Given the description of an element on the screen output the (x, y) to click on. 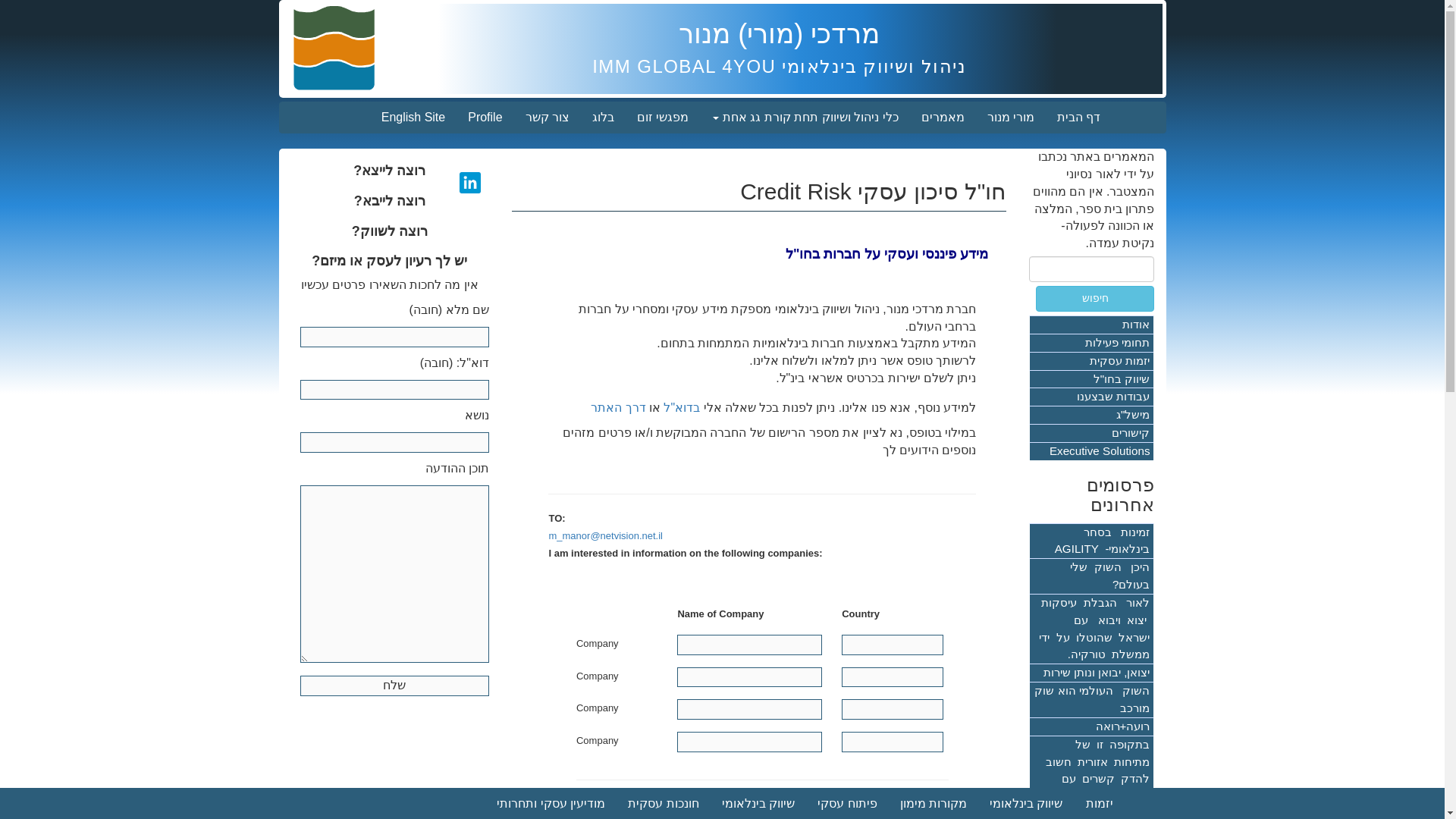
English Site (413, 117)
Profile (485, 117)
